Given the description of an element on the screen output the (x, y) to click on. 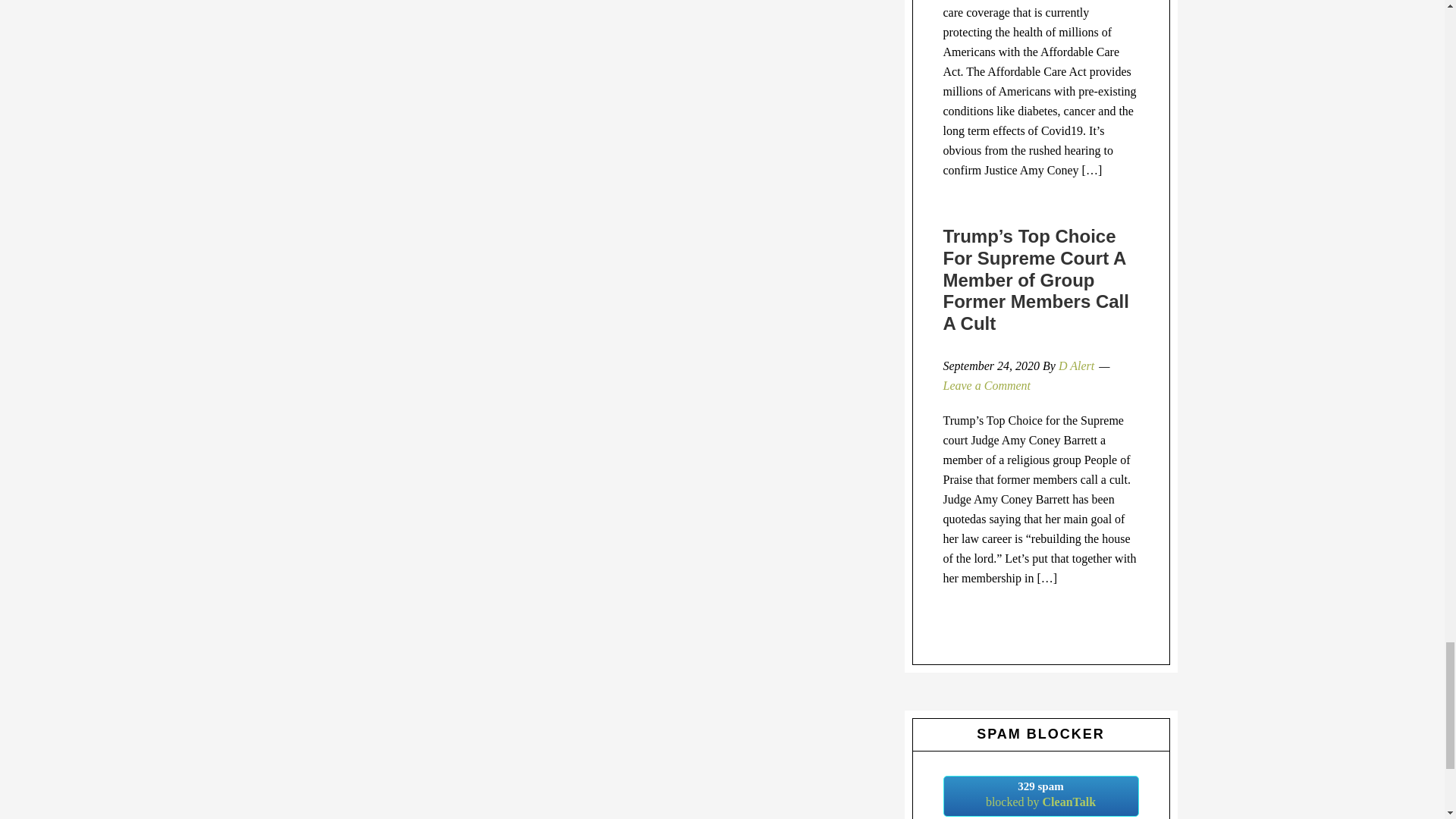
CleanTalk's main page (1040, 795)
